Given the description of an element on the screen output the (x, y) to click on. 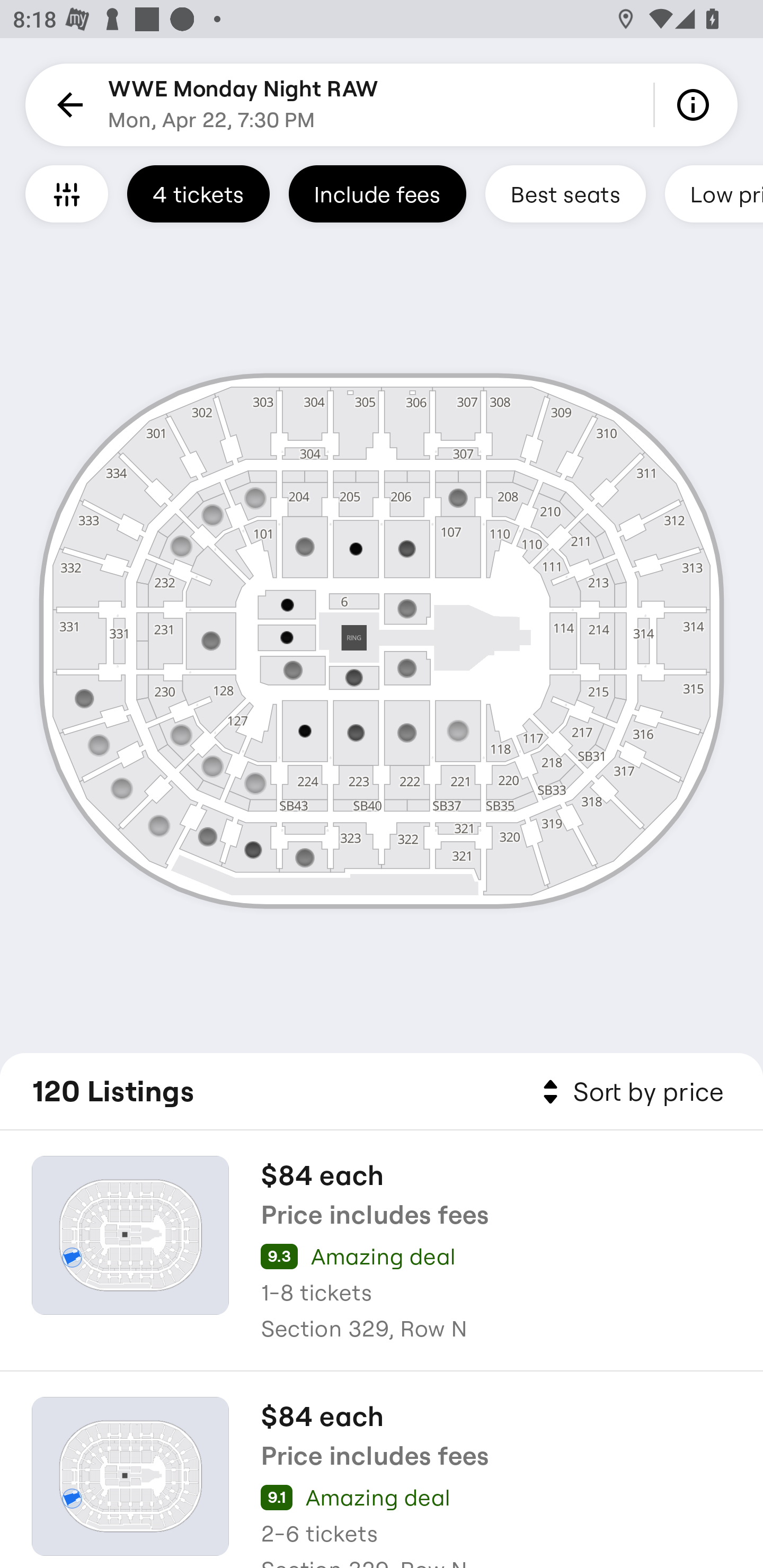
Back (66, 104)
WWE Monday Night RAW Mon, Apr 22, 7:30 PM (243, 104)
Info (695, 104)
Filters and Accessible Seating (66, 193)
4 tickets (198, 193)
Include fees (377, 193)
Best seats (565, 193)
Low prices (714, 193)
Sort by price (629, 1091)
